Given the description of an element on the screen output the (x, y) to click on. 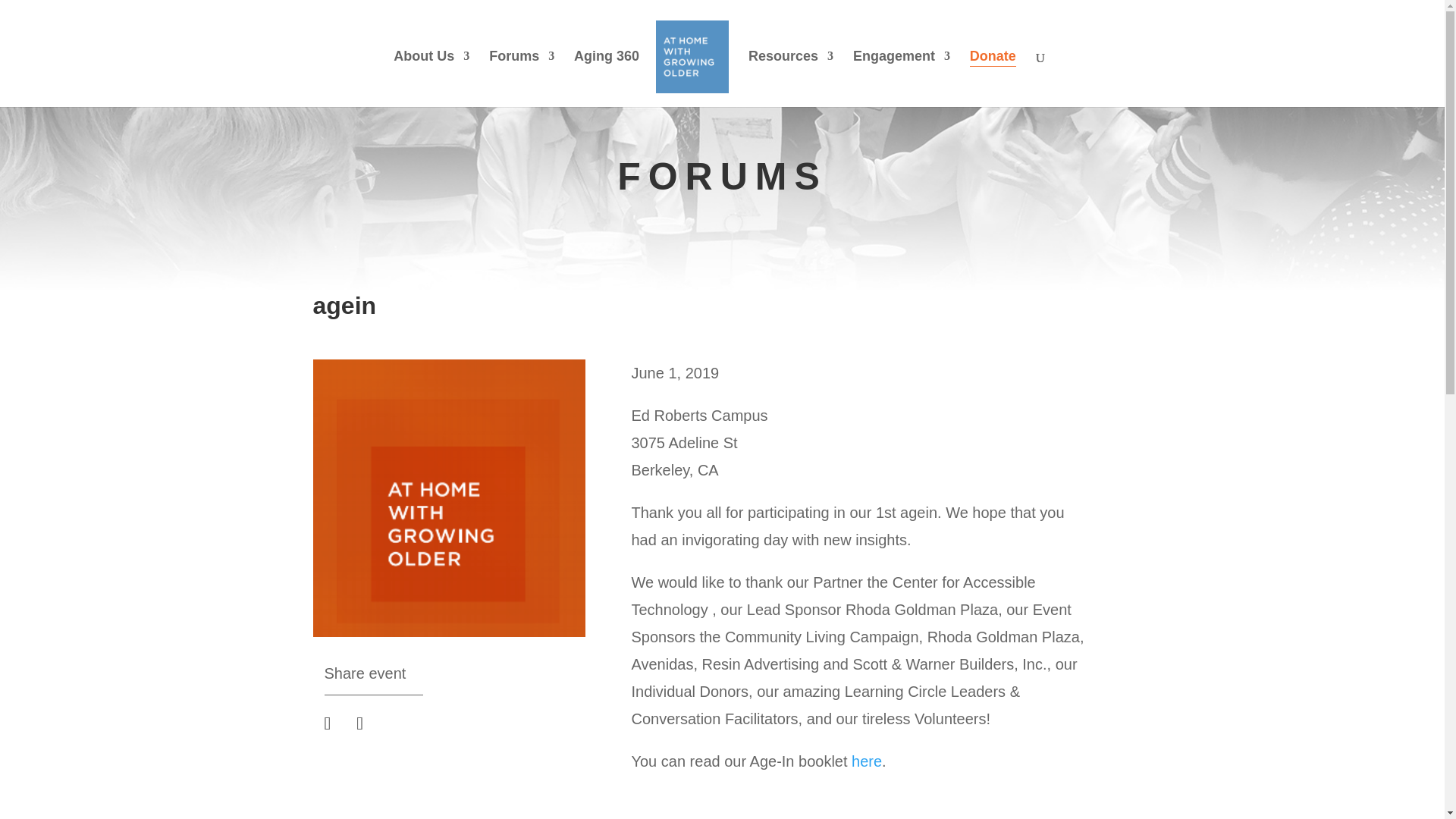
Resources (790, 78)
Aging 360 (606, 78)
Screen Shot 2019-04-04 at 6.47.58 PM (449, 497)
Forums (521, 78)
About Us (430, 78)
Engagement (901, 78)
